Given the description of an element on the screen output the (x, y) to click on. 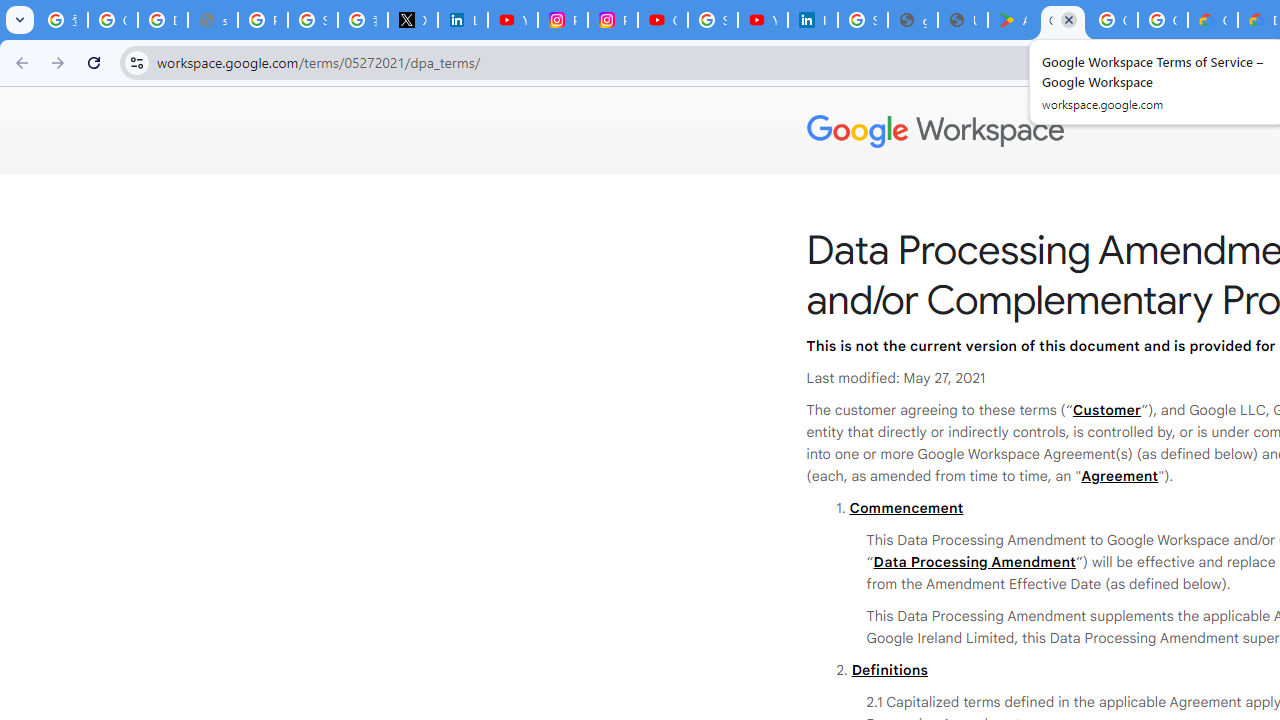
User Details (963, 20)
Privacy Help Center - Policies Help (262, 20)
Google Workspace - Specific Terms (1112, 20)
